Given the description of an element on the screen output the (x, y) to click on. 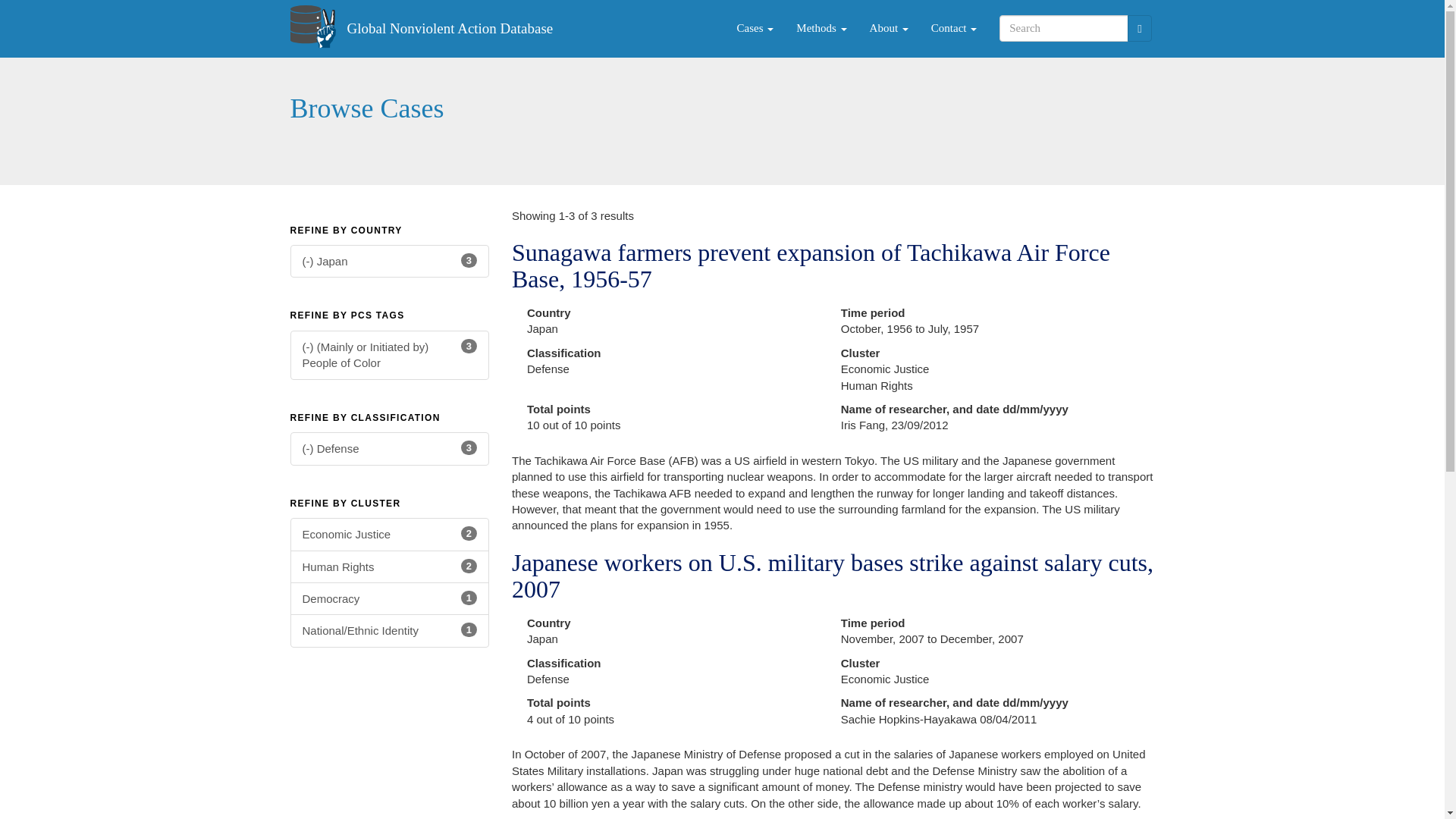
About (889, 28)
Home (317, 25)
Methods (820, 28)
Cases (755, 28)
Skip to main content (389, 533)
About the Database (954, 28)
Home (889, 28)
Global Nonviolent Action Database (389, 598)
Contact (449, 28)
